Given the description of an element on the screen output the (x, y) to click on. 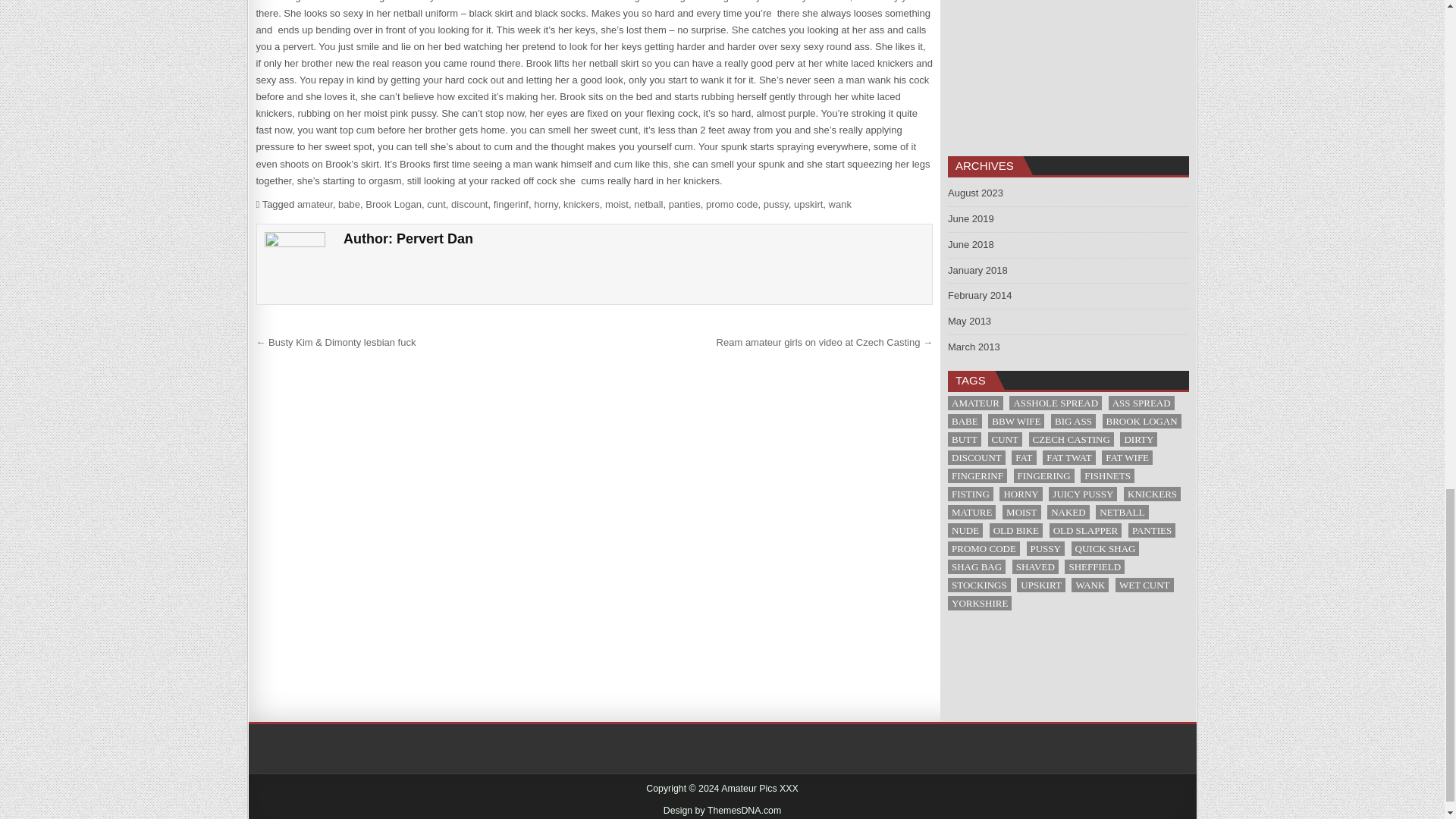
fingerinf (510, 204)
horny (545, 204)
cunt (435, 204)
babe (348, 204)
moist (616, 204)
Brook Logan (393, 204)
netball (647, 204)
knickers (581, 204)
amateur (315, 204)
promo code (732, 204)
